Given the description of an element on the screen output the (x, y) to click on. 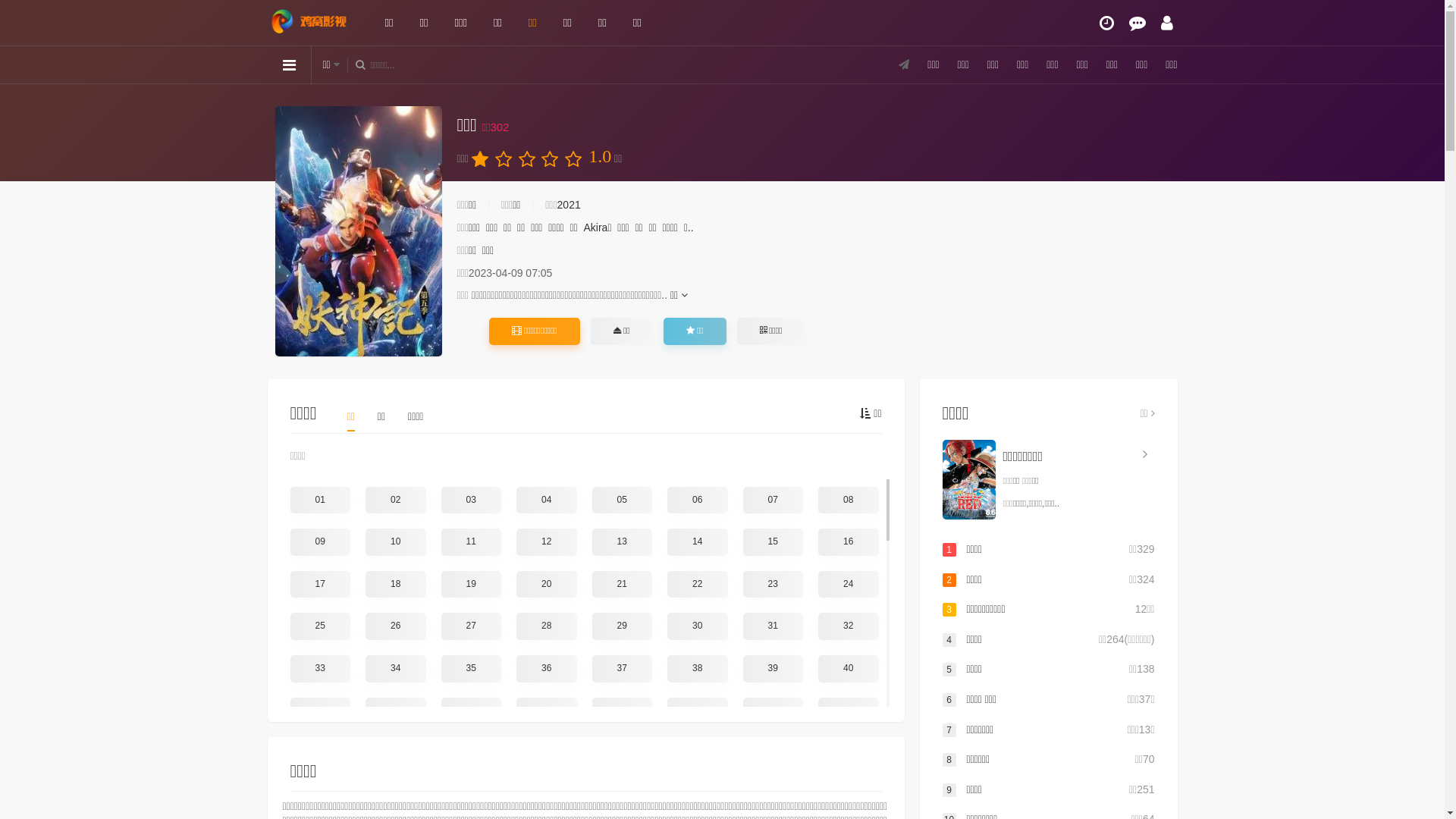
15 Element type: text (773, 541)
2021 Element type: text (568, 204)
29 Element type: text (621, 626)
09 Element type: text (319, 541)
01 Element type: text (319, 500)
64 Element type: text (848, 795)
47 Element type: text (773, 710)
16 Element type: text (848, 541)
37 Element type: text (621, 668)
18 Element type: text (395, 584)
25 Element type: text (319, 626)
42 Element type: text (395, 710)
05 Element type: text (621, 500)
57 Element type: text (319, 795)
49 Element type: text (319, 752)
43 Element type: text (471, 710)
59 Element type: text (471, 795)
33 Element type: text (319, 668)
04 Element type: text (546, 500)
26 Element type: text (395, 626)
20 Element type: text (546, 584)
27 Element type: text (471, 626)
11 Element type: text (471, 541)
23 Element type: text (773, 584)
02 Element type: text (395, 500)
13 Element type: text (621, 541)
07 Element type: text (773, 500)
58 Element type: text (395, 795)
56 Element type: text (848, 752)
12 Element type: text (546, 541)
50 Element type: text (395, 752)
41 Element type: text (319, 710)
22 Element type: text (697, 584)
08 Element type: text (848, 500)
36 Element type: text (546, 668)
52 Element type: text (546, 752)
48 Element type: text (848, 710)
24 Element type: text (848, 584)
32 Element type: text (848, 626)
35 Element type: text (471, 668)
51 Element type: text (471, 752)
17 Element type: text (319, 584)
60 Element type: text (546, 795)
63 Element type: text (773, 795)
03 Element type: text (471, 500)
62 Element type: text (697, 795)
54 Element type: text (697, 752)
55 Element type: text (773, 752)
10 Element type: text (395, 541)
39 Element type: text (773, 668)
38 Element type: text (697, 668)
28 Element type: text (546, 626)
45 Element type: text (621, 710)
44 Element type: text (546, 710)
30 Element type: text (697, 626)
40 Element type: text (848, 668)
61 Element type: text (621, 795)
31 Element type: text (773, 626)
34 Element type: text (395, 668)
14 Element type: text (697, 541)
21 Element type: text (621, 584)
53 Element type: text (621, 752)
19 Element type: text (471, 584)
06 Element type: text (697, 500)
46 Element type: text (697, 710)
